Given the description of an element on the screen output the (x, y) to click on. 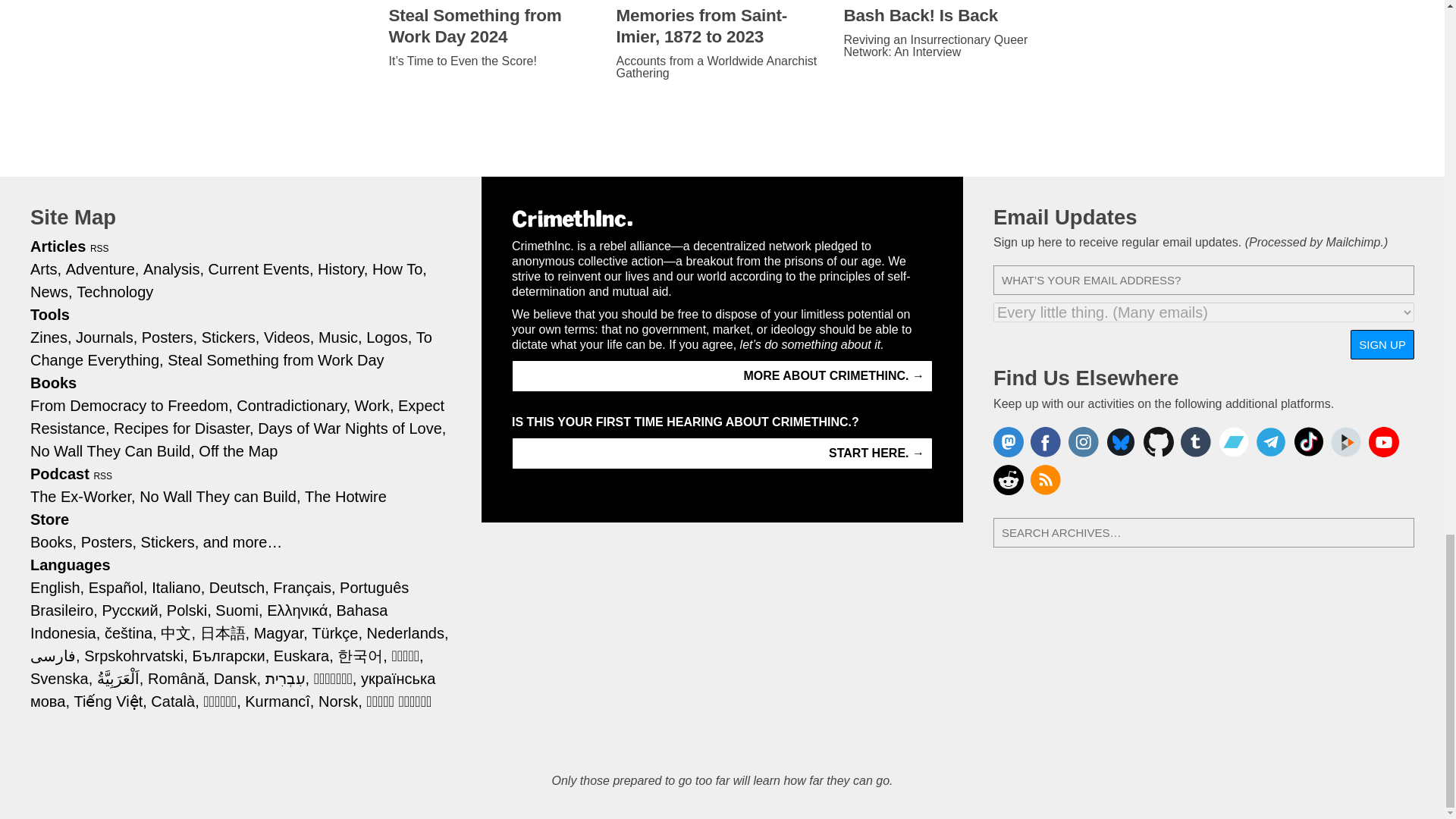
Bash Back! Is Back (949, 15)
Arts (45, 269)
Analysis (172, 269)
Adventure (102, 269)
Technology (114, 291)
Current Events (261, 269)
News (51, 291)
How To (399, 269)
RSS (99, 248)
History (342, 269)
Accounts from a Worldwide Anarchist Gathering (721, 67)
Memories from Saint-Imier, 1872 to 2023 (721, 25)
Reviving an Insurrectionary Queer Network: An Interview (949, 46)
Articles (57, 246)
Steal Something from Work Day 2024 (493, 25)
